Given the description of an element on the screen output the (x, y) to click on. 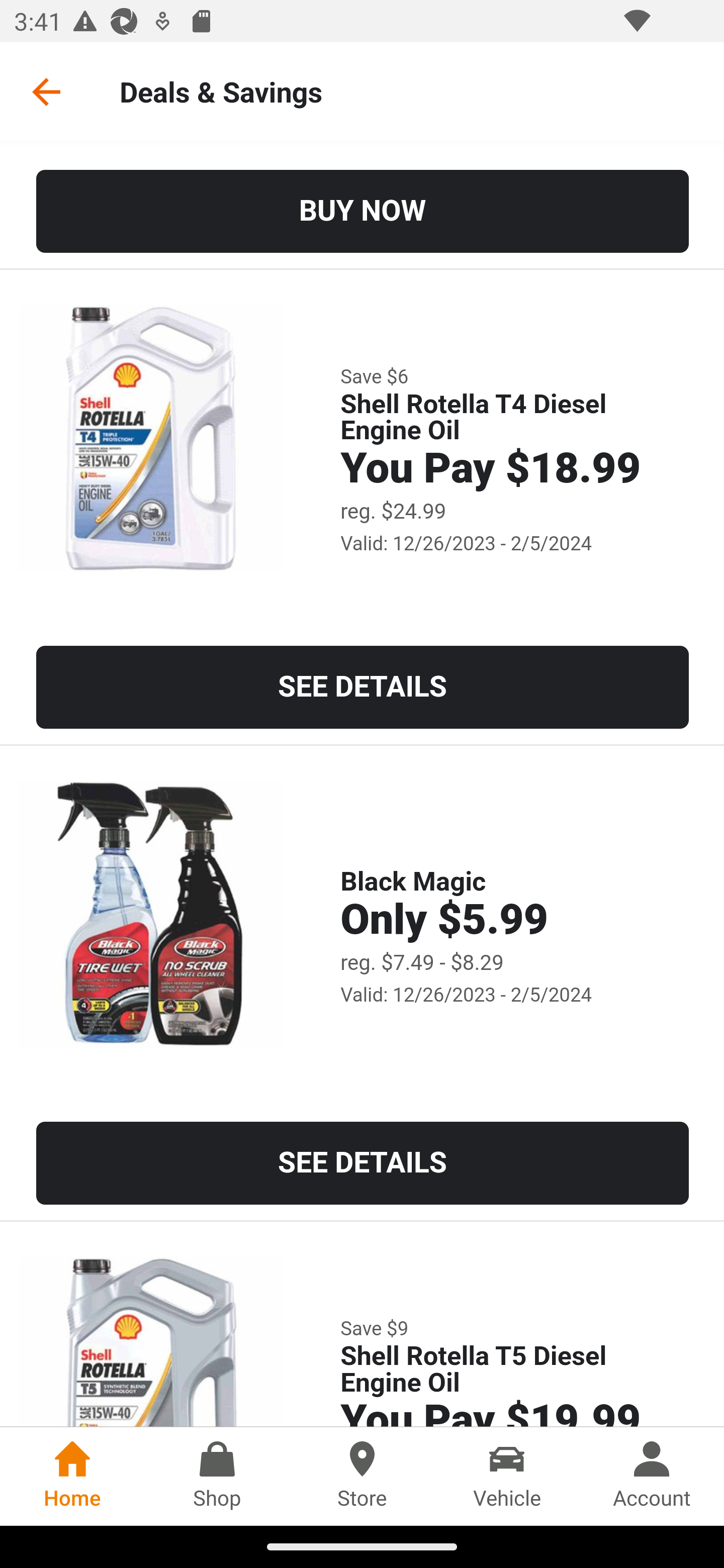
Go back (45, 91)
BUY NOW (362, 212)
See Details on Black Magic offer SEE DETAILS (362, 1164)
Home (72, 1475)
Shop (216, 1475)
Store (361, 1475)
Vehicle (506, 1475)
Account (651, 1475)
